Given the description of an element on the screen output the (x, y) to click on. 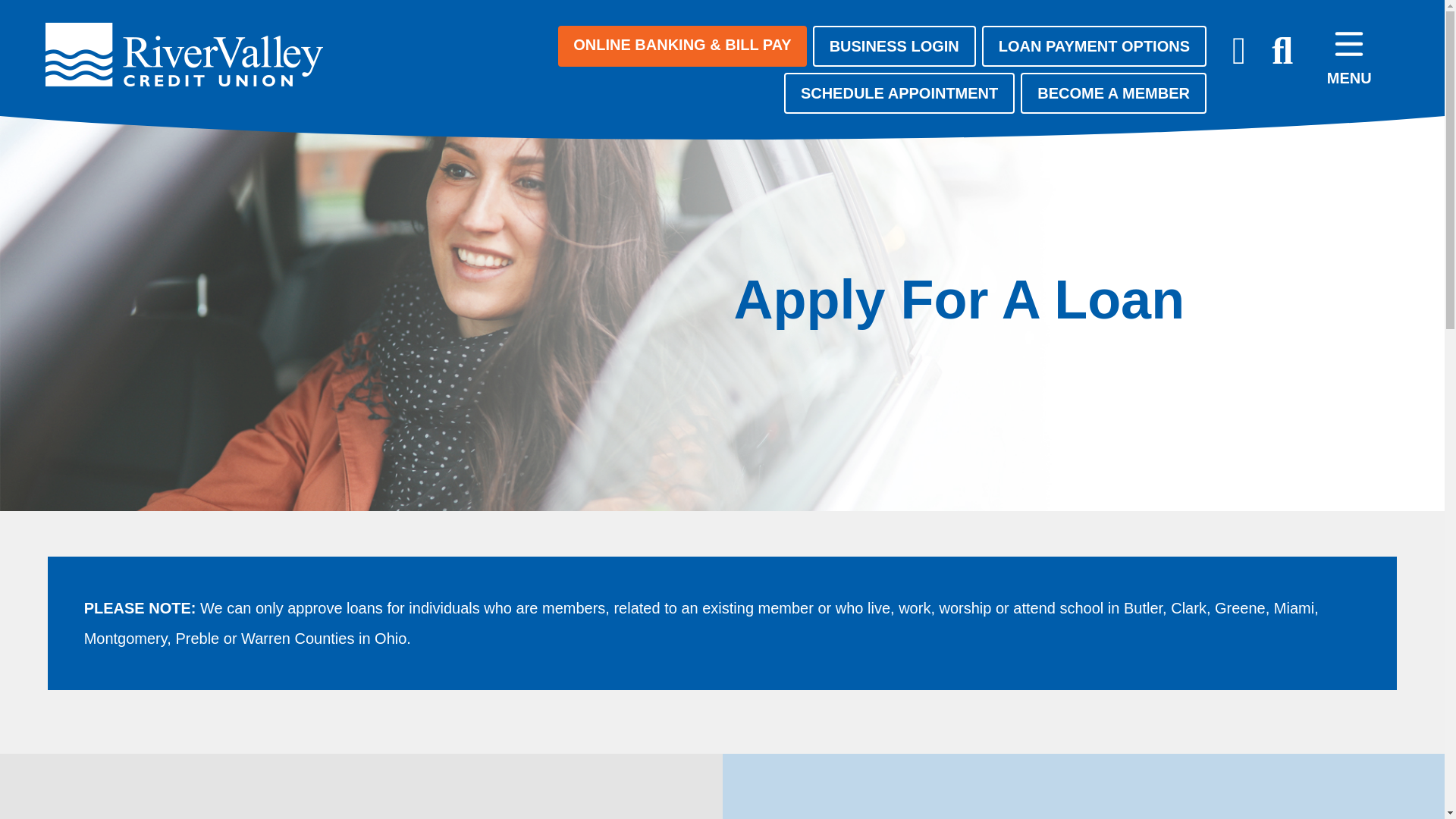
SCHEDULE APPOINTMENT (899, 92)
Skip to Content (51, 11)
LOAN PAYMENT OPTIONS (1094, 45)
Home (186, 53)
BECOME A MEMBER (1113, 92)
BUSINESS LOGIN (893, 45)
